Given the description of an element on the screen output the (x, y) to click on. 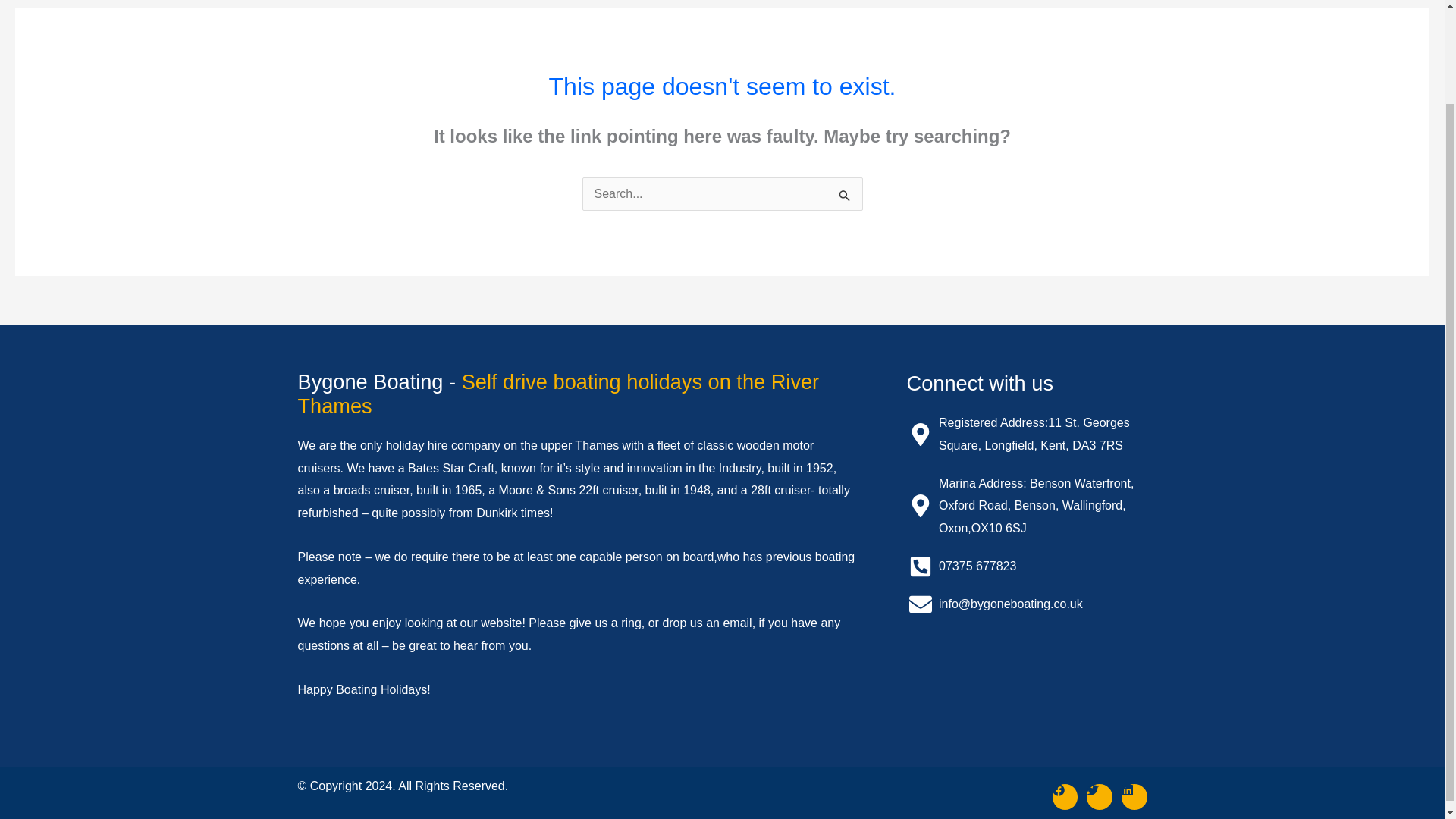
Facebook (1065, 796)
Twitter (1099, 796)
07375 677823 (1027, 566)
Linkedin (1134, 796)
